Given the description of an element on the screen output the (x, y) to click on. 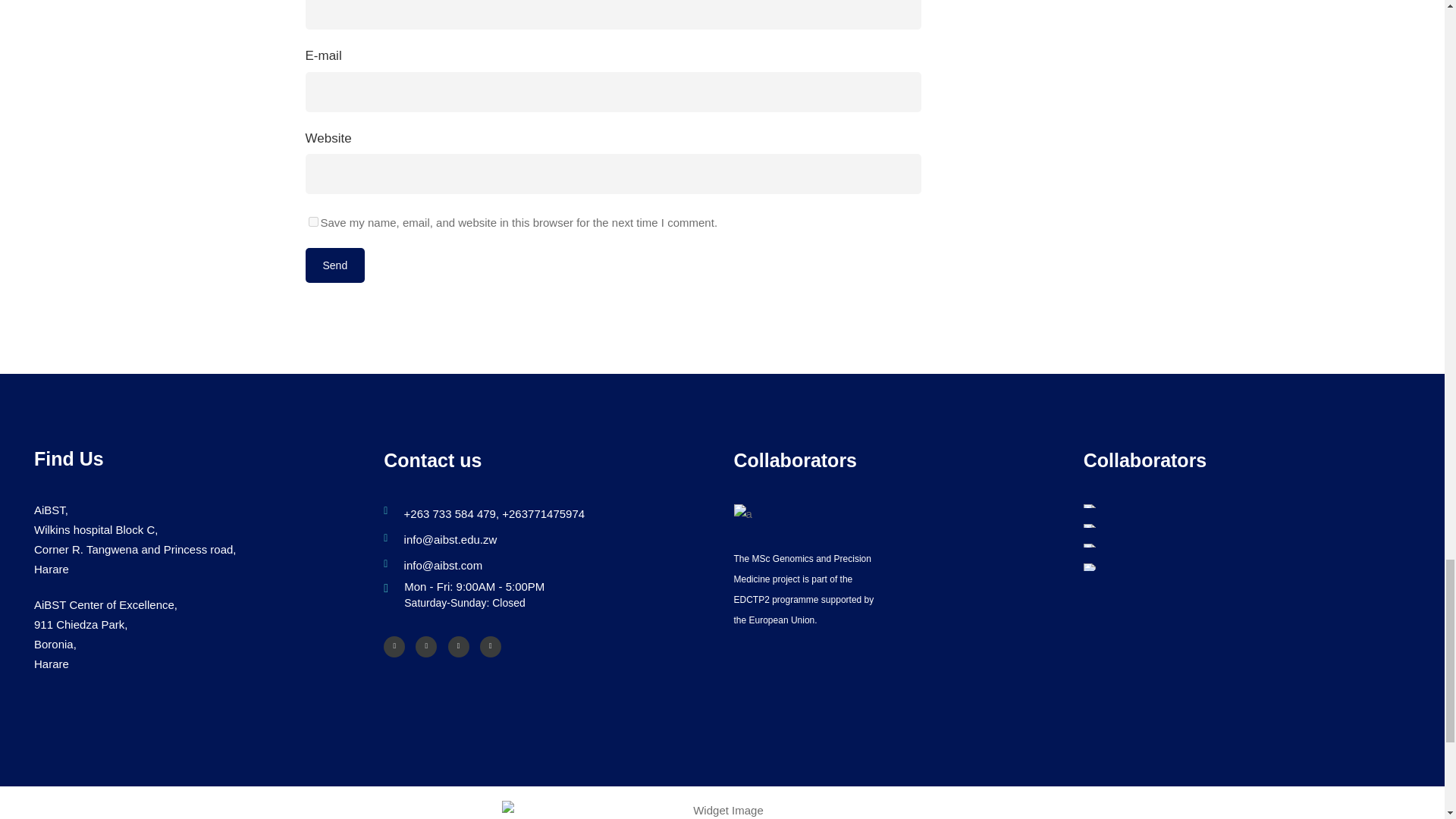
yes (312, 221)
Send (334, 265)
